Given the description of an element on the screen output the (x, y) to click on. 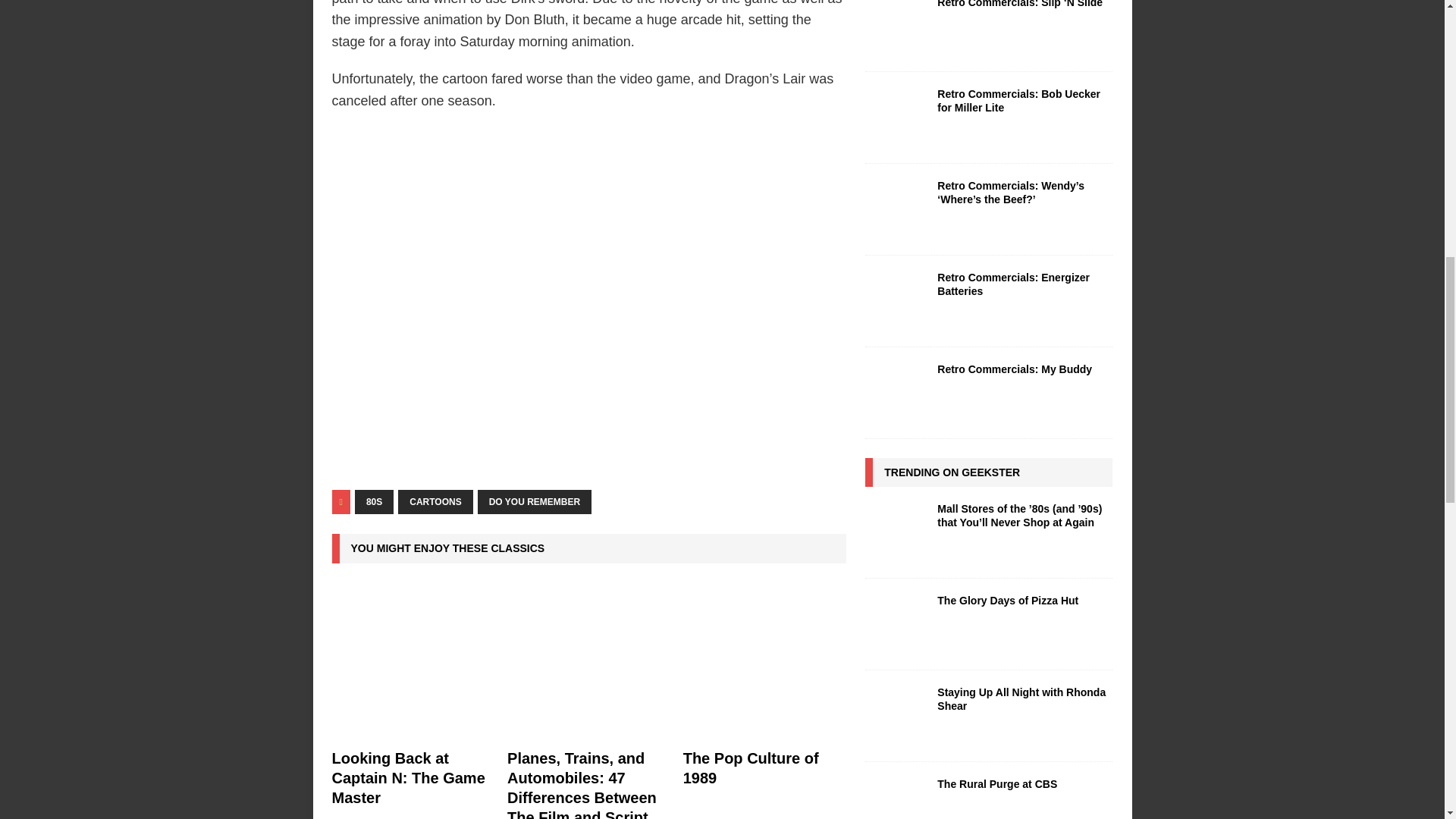
Looking Back at Captain N: The Game Master (407, 777)
The Pop Culture of 1989 (763, 660)
Looking Back at Captain N: The Game Master (413, 660)
The Pop Culture of 1989 (750, 768)
